Given the description of an element on the screen output the (x, y) to click on. 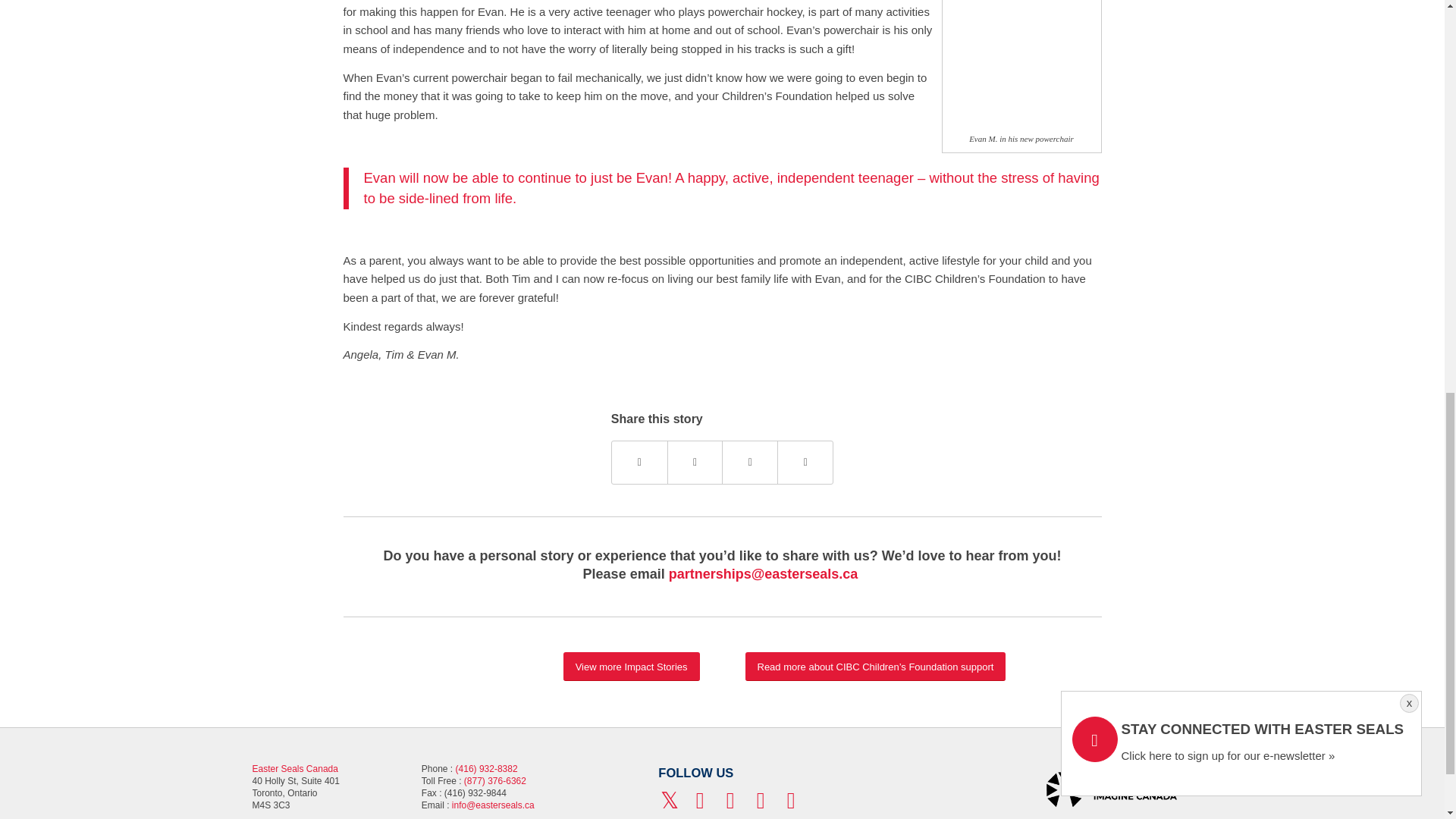
Instagram (760, 800)
Facebook (699, 800)
X (669, 800)
View more Impact Stories (631, 666)
Youtube (730, 800)
